Given the description of an element on the screen output the (x, y) to click on. 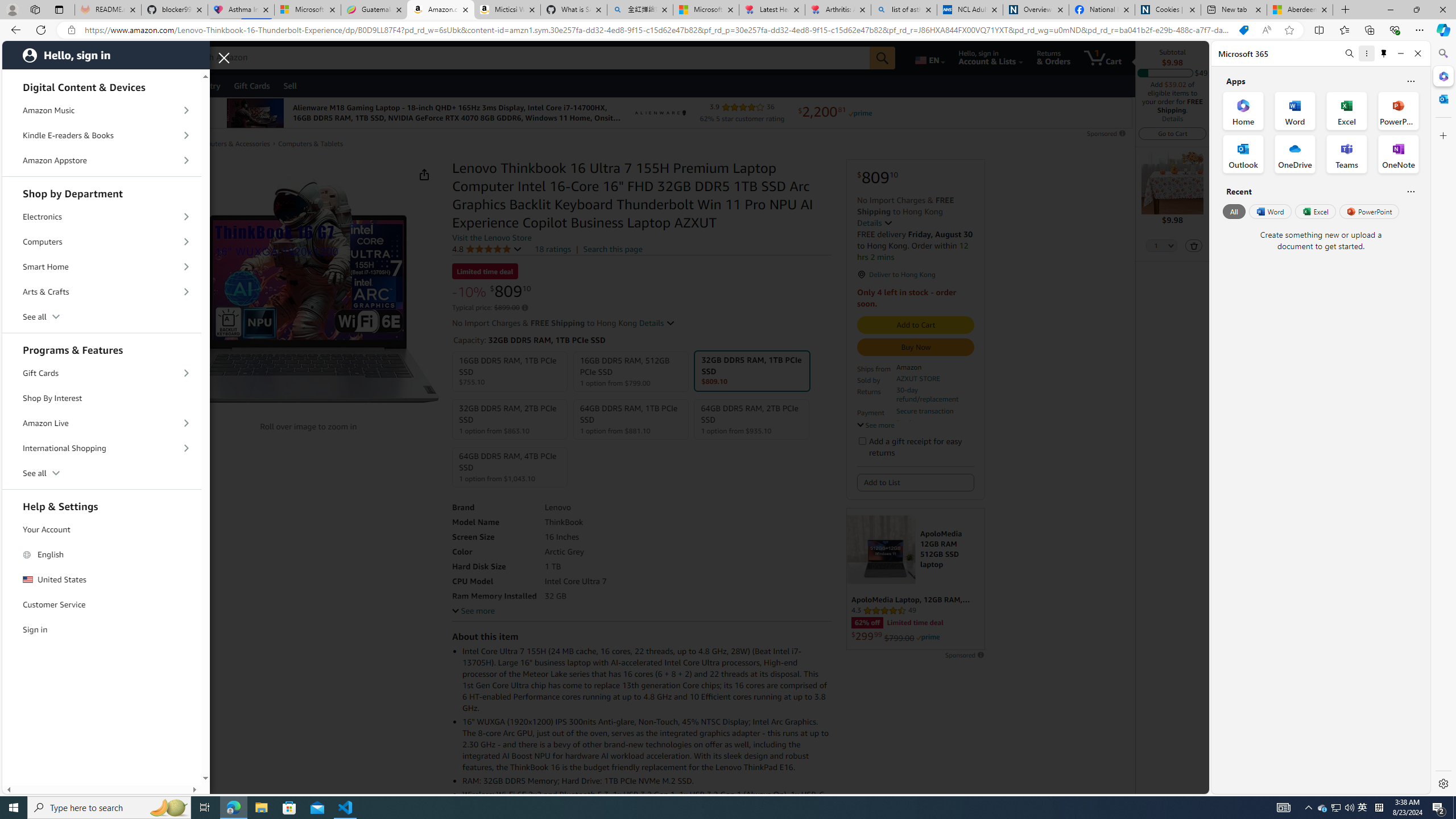
You have the best price! (1243, 29)
Shop By Interest (101, 398)
Smart Home (101, 267)
PowerPoint Office App (1398, 110)
Customer Service (101, 604)
English (101, 554)
Today's Deals (76, 85)
Sponsored ad (915, 578)
